Given the description of an element on the screen output the (x, y) to click on. 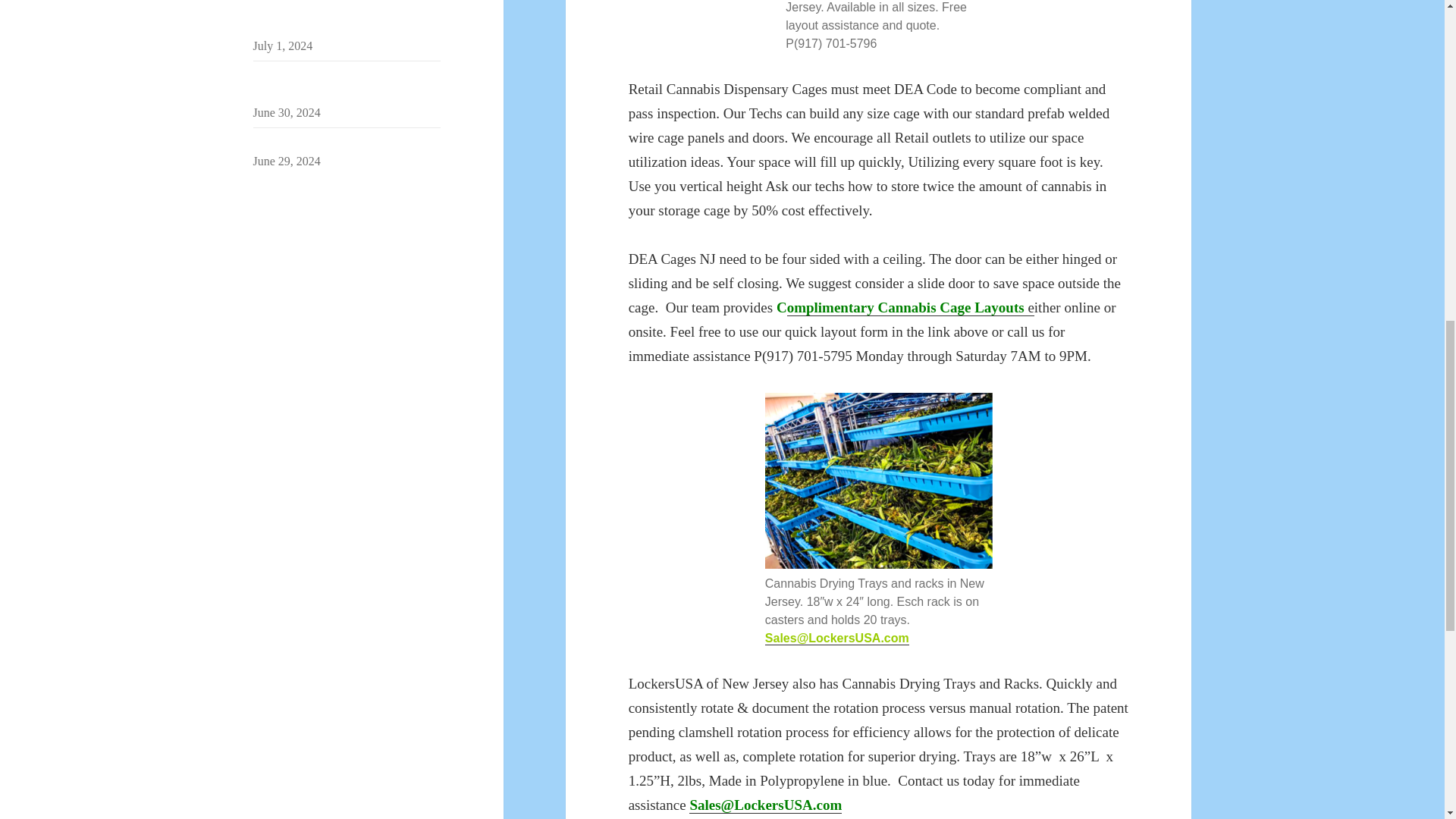
Security Storage Cages Ocean County (346, 142)
omplimentary Cannabis Cage Layouts e (910, 307)
Security Storage Cages Middlesex County (336, 18)
Security Storage Cages Monmouth County (338, 84)
